Given the description of an element on the screen output the (x, y) to click on. 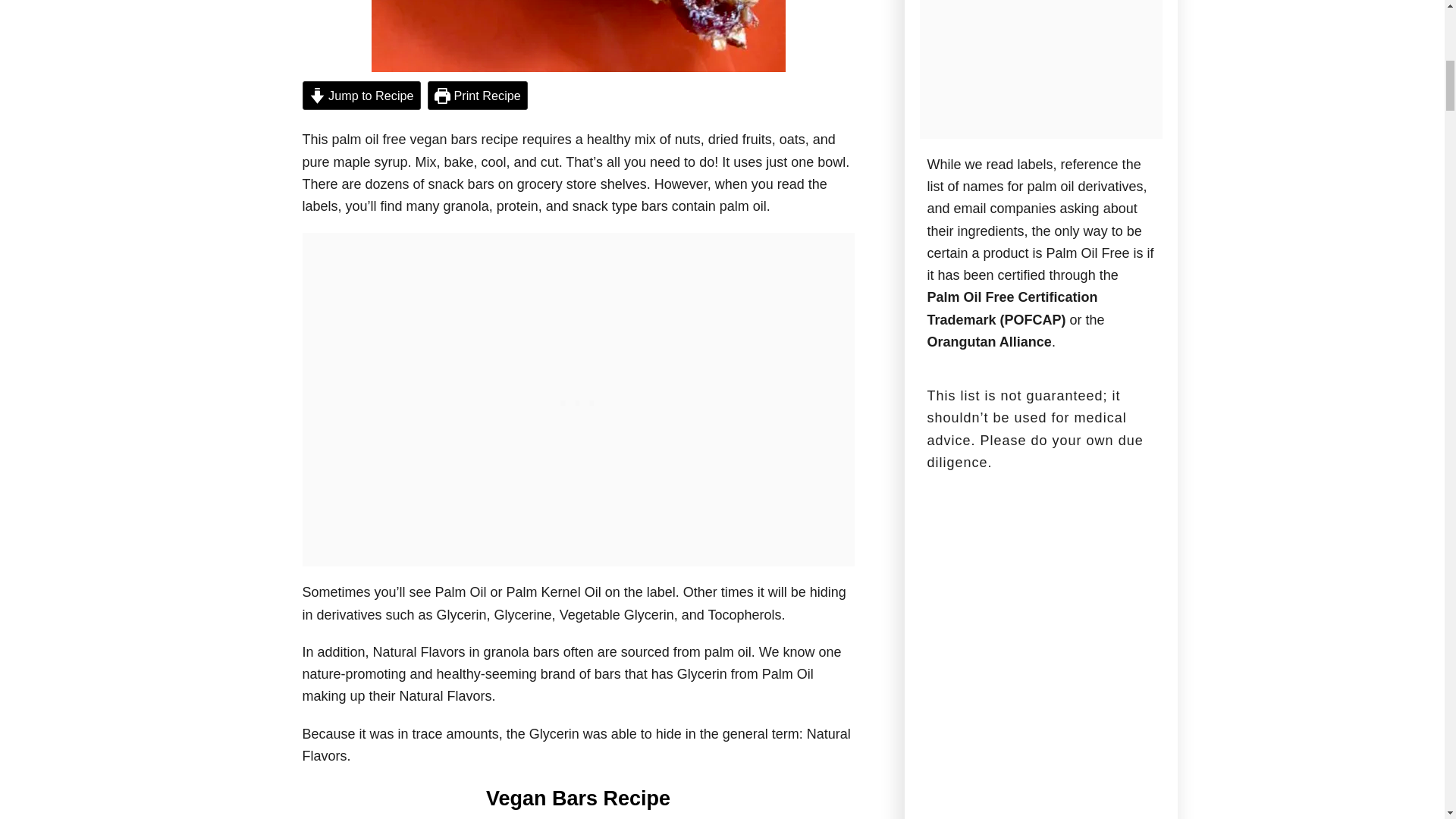
Jump to Recipe (360, 95)
Print Recipe (477, 95)
